Given the description of an element on the screen output the (x, y) to click on. 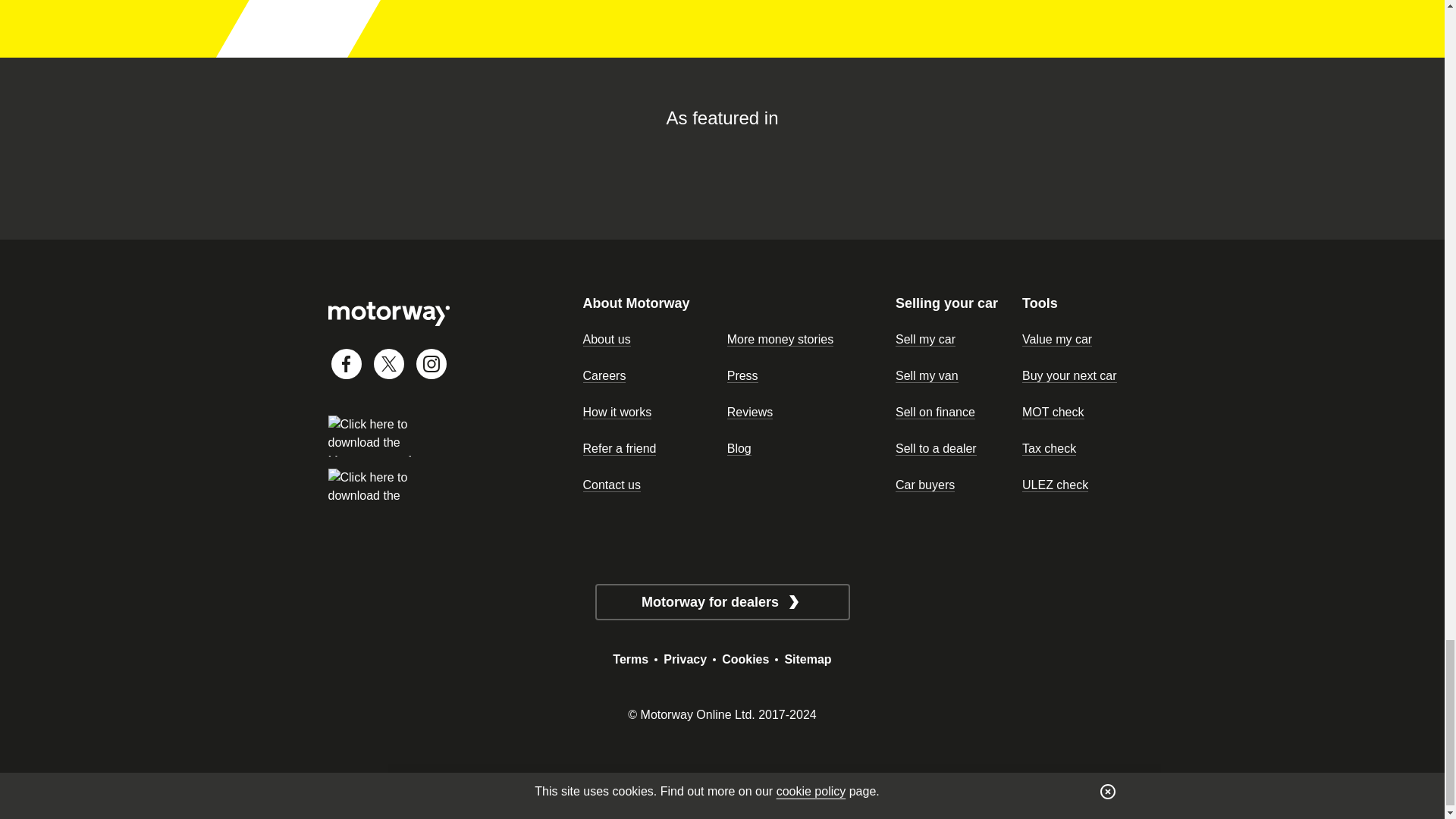
Sell my van (943, 375)
About us (651, 339)
More money stories (795, 339)
Careers (651, 375)
How it works (651, 412)
Reviews (795, 412)
Contact us (651, 484)
Twitter (387, 363)
Blog (795, 448)
Facebook (345, 363)
